Given the description of an element on the screen output the (x, y) to click on. 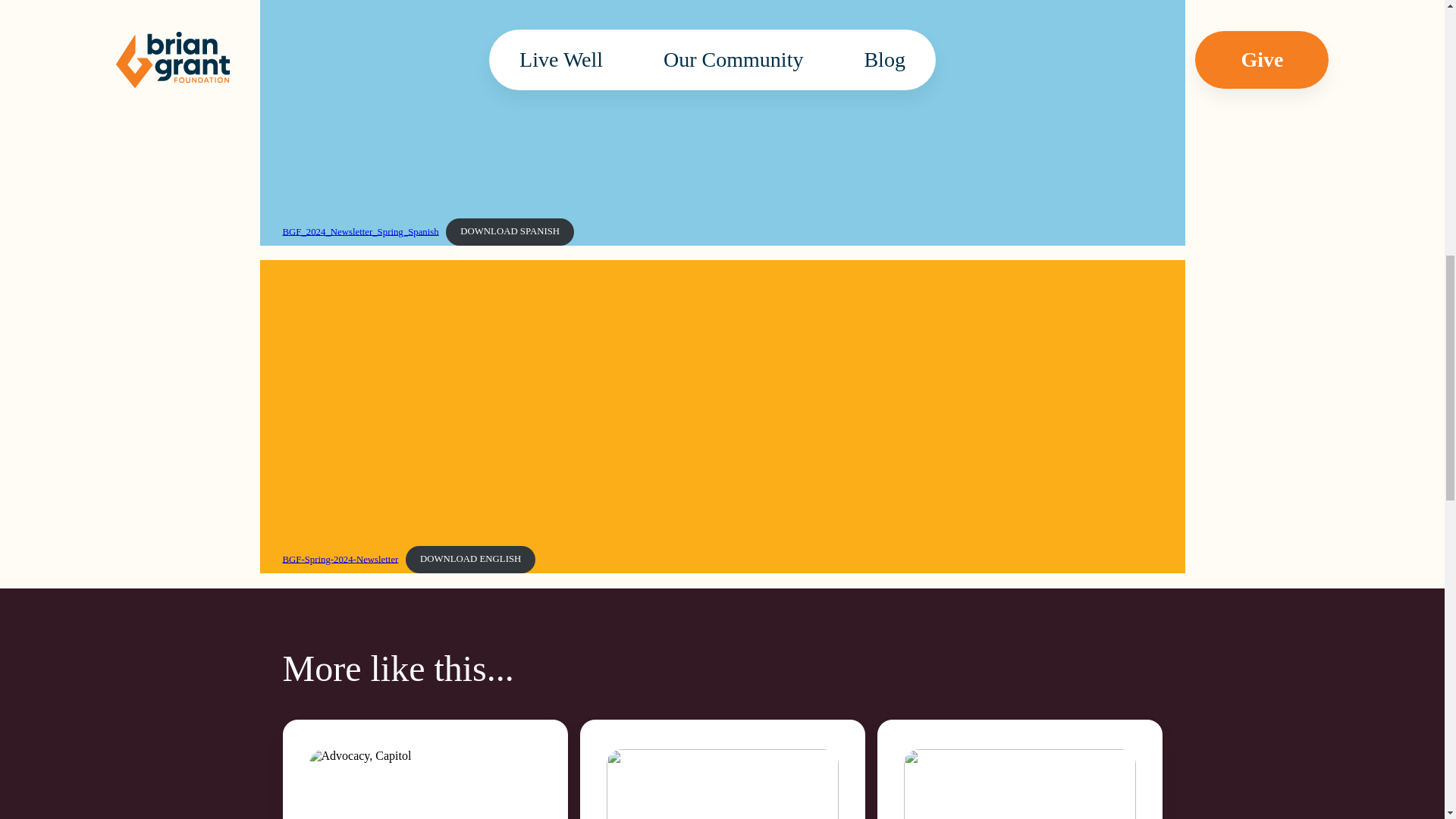
DOWNLOAD SPANISH (509, 231)
BGF-Spring-2024-Newsletter (339, 558)
DOWNLOAD ENGLISH (470, 559)
